Given the description of an element on the screen output the (x, y) to click on. 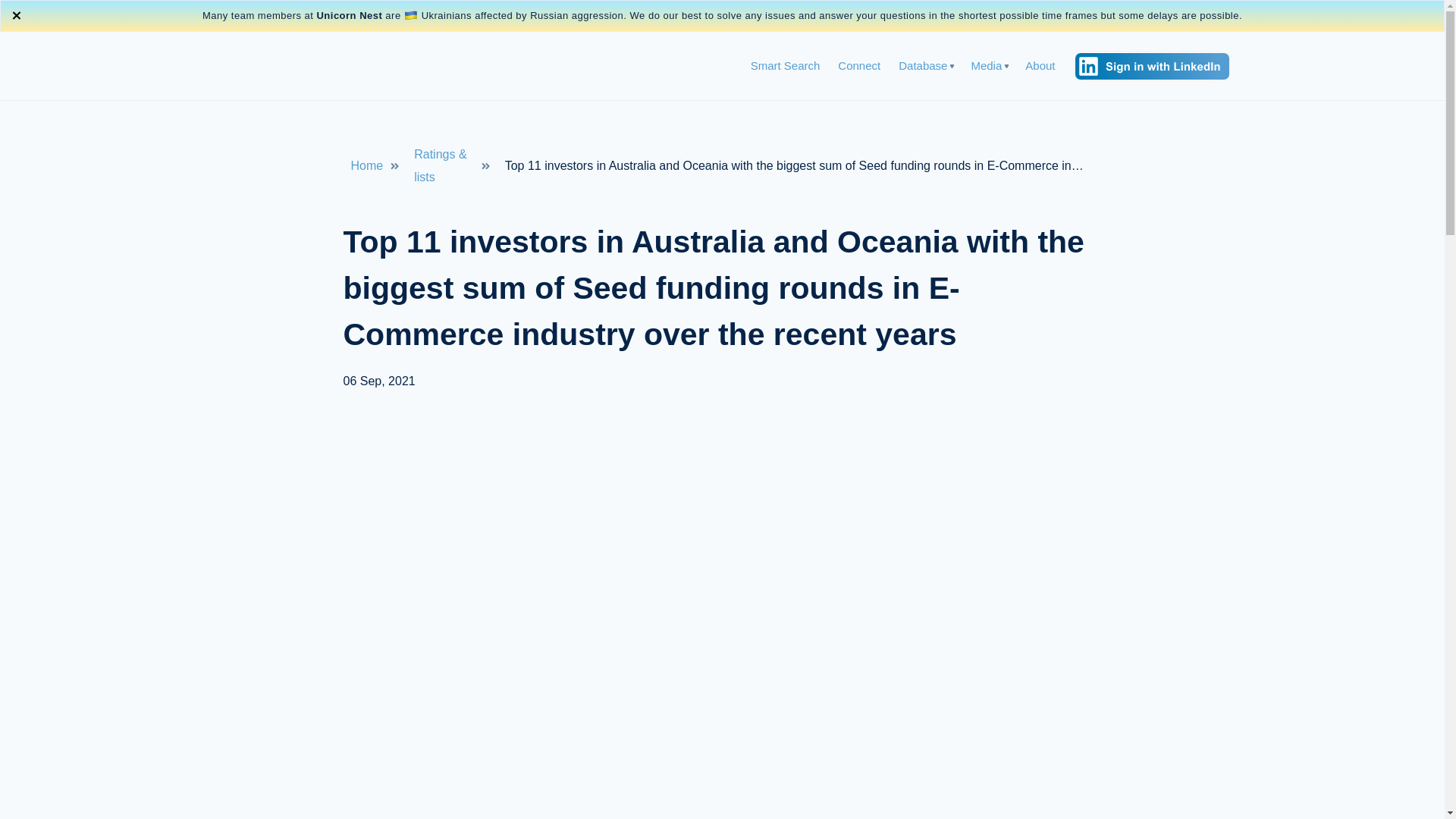
Media (986, 65)
Smart Search (786, 65)
Connect (859, 65)
About (1039, 65)
Database (922, 65)
Home (366, 165)
